Given the description of an element on the screen output the (x, y) to click on. 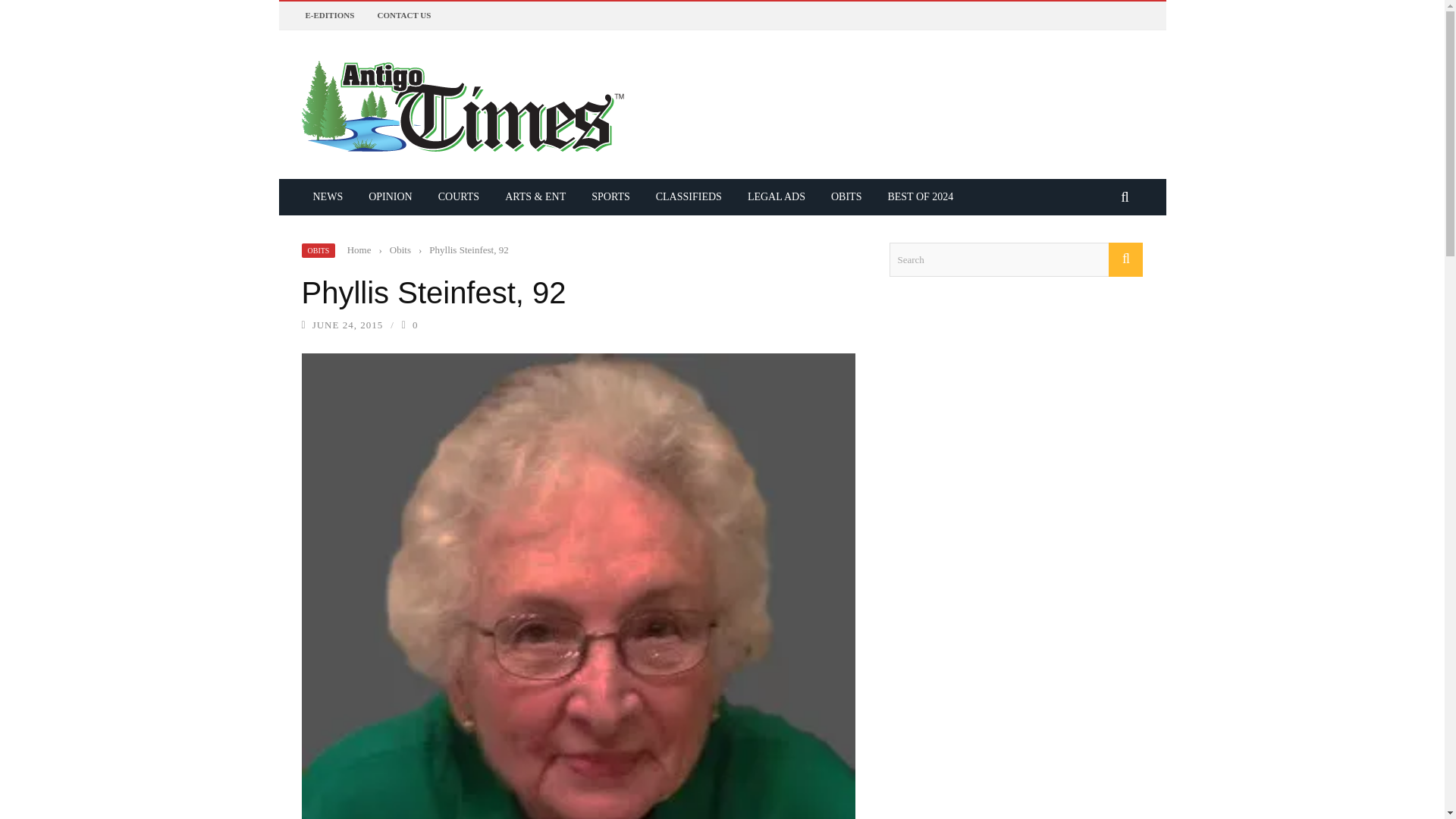
NEWS (328, 196)
Home (359, 249)
Advertisement (1002, 698)
OPINION (389, 196)
COURTS (458, 196)
BEST OF 2024 (919, 196)
Search (1015, 259)
OBITS (845, 196)
OBITS (318, 249)
LEGAL ADS (776, 196)
E-EDITIONS (328, 14)
CONTACT US (403, 14)
SPORTS (610, 196)
CLASSIFIEDS (689, 196)
